Given the description of an element on the screen output the (x, y) to click on. 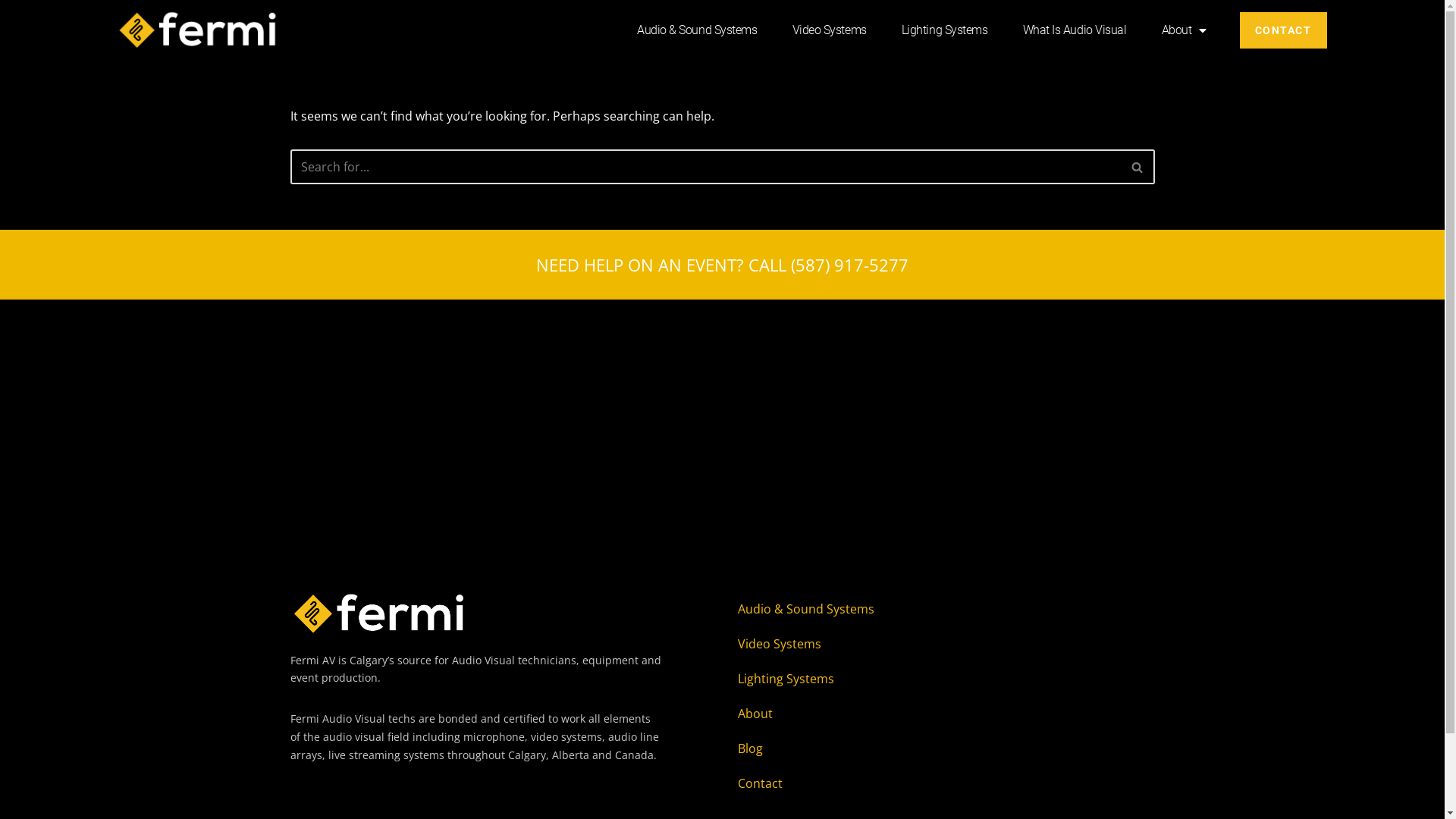
Audio & Sound Systems Element type: text (907, 608)
fermi audio visual 7845 flint rd se Element type: hover (721, 413)
Lighting Systems Element type: text (944, 30)
Audio & Sound Systems Element type: text (696, 30)
NEED HELP ON AN EVENT? CALL (587) 917-5277 Element type: text (722, 264)
Skip to content Element type: text (11, 31)
About Element type: text (907, 713)
CONTACT Element type: text (1283, 30)
Blog Element type: text (907, 748)
What Is Audio Visual Element type: text (1074, 30)
Lighting Systems Element type: text (907, 678)
Video Systems Element type: text (829, 30)
About Element type: text (1183, 30)
Video Systems Element type: text (907, 643)
Contact Element type: text (907, 782)
